Given the description of an element on the screen output the (x, y) to click on. 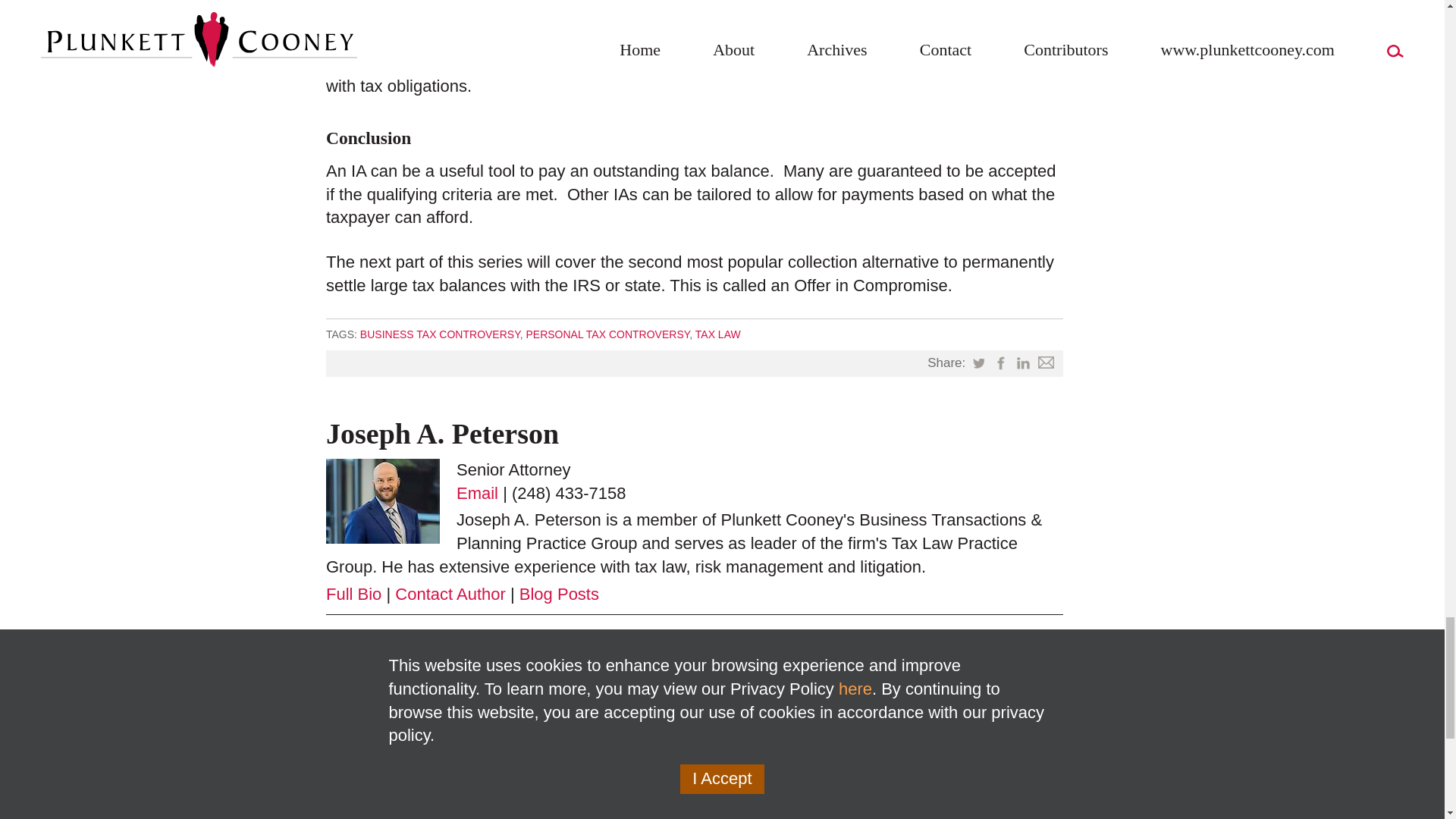
Full Bio (353, 593)
Contact Author (449, 593)
PERSONAL TAX CONTROVERSY (606, 334)
BUSINESS TAX CONTROVERSY (439, 334)
TAX LAW (718, 334)
Email (477, 493)
Blog Posts (558, 593)
Joseph A. Peterson (442, 433)
